Given the description of an element on the screen output the (x, y) to click on. 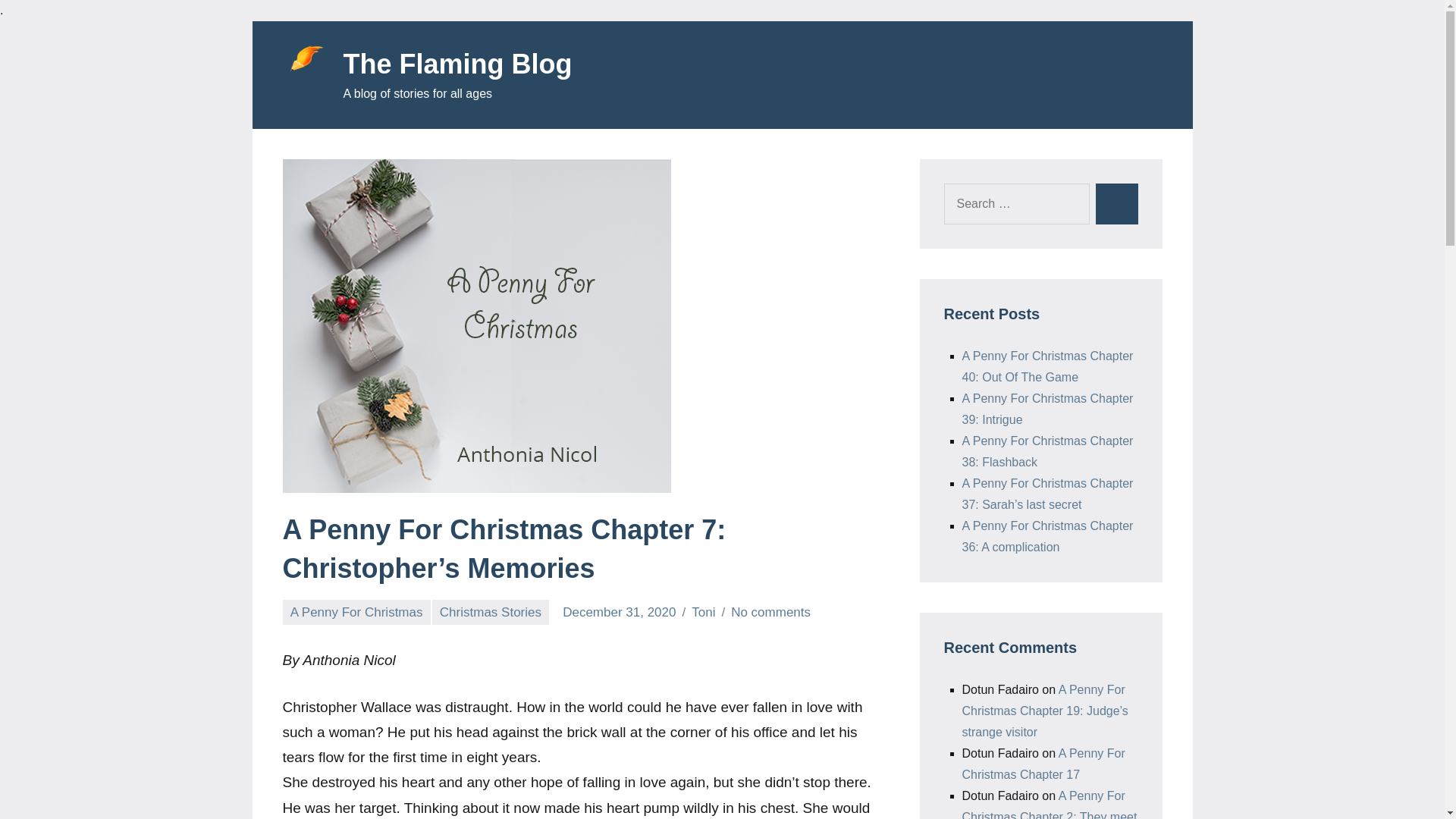
Toni (702, 612)
Search for: (1016, 203)
Christmas Stories (491, 611)
No comments (770, 612)
The Flaming Blog (457, 63)
A Penny For Christmas (355, 611)
View all posts by Toni (702, 612)
December 31, 2020 (618, 612)
